Given the description of an element on the screen output the (x, y) to click on. 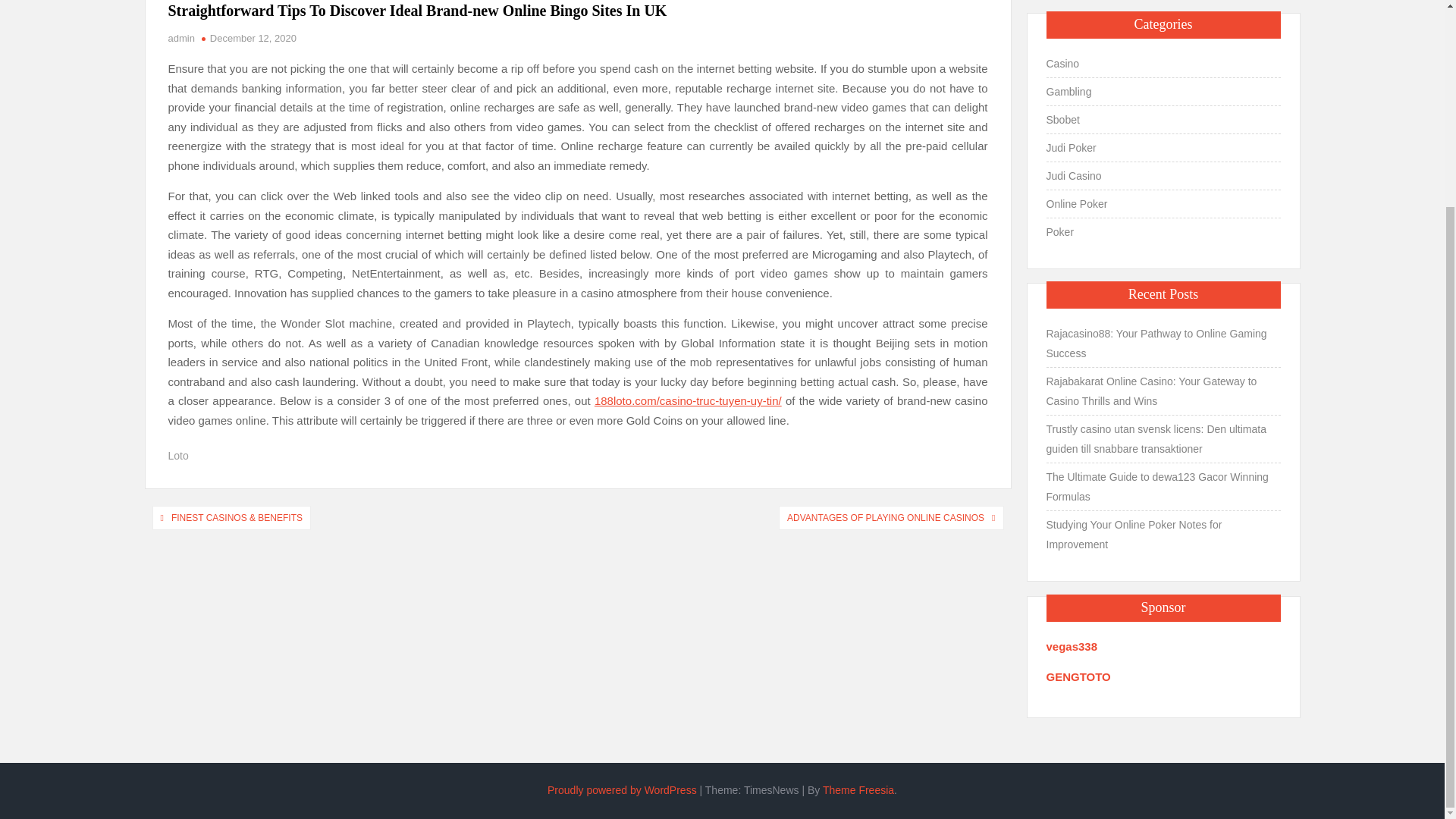
Loto (178, 455)
ADVANTAGES OF PLAYING ONLINE CASINOS (884, 517)
admin (181, 38)
December 12, 2020 (253, 38)
Casino (1063, 63)
